Given the description of an element on the screen output the (x, y) to click on. 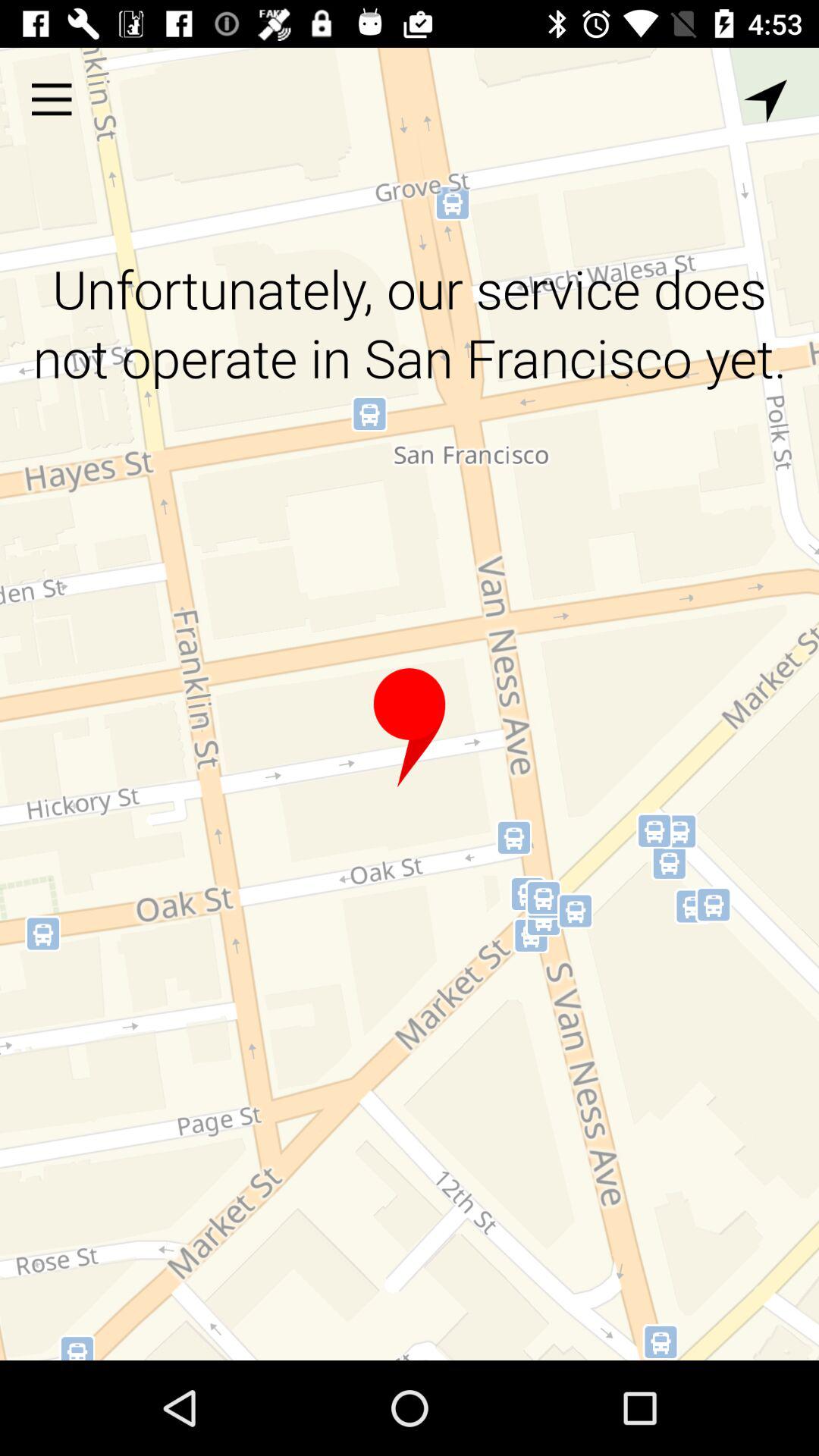
conducimos por ti (409, 727)
